Given the description of an element on the screen output the (x, y) to click on. 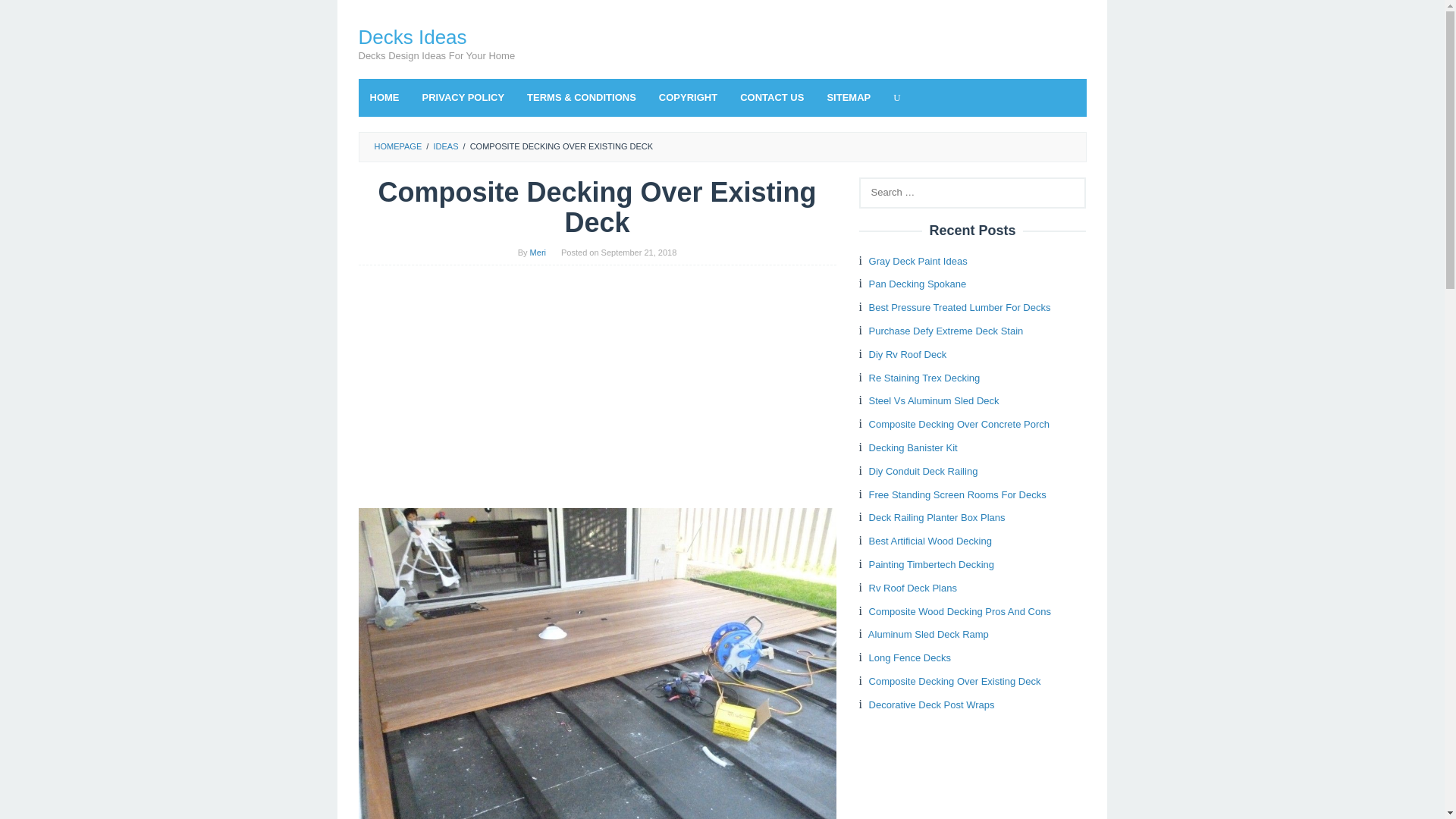
CONTACT US (772, 97)
Decks Ideas (411, 36)
Purchase Defy Extreme Deck Stain (946, 330)
PRIVACY POLICY (463, 97)
HOME (384, 97)
COPYRIGHT (688, 97)
Permalink to: Meri (537, 252)
Meri (537, 252)
Advertisement (596, 386)
Search (27, 15)
IDEAS (445, 145)
Decks Ideas (411, 36)
SITEMAP (848, 97)
HOMEPAGE (398, 145)
